Given the description of an element on the screen output the (x, y) to click on. 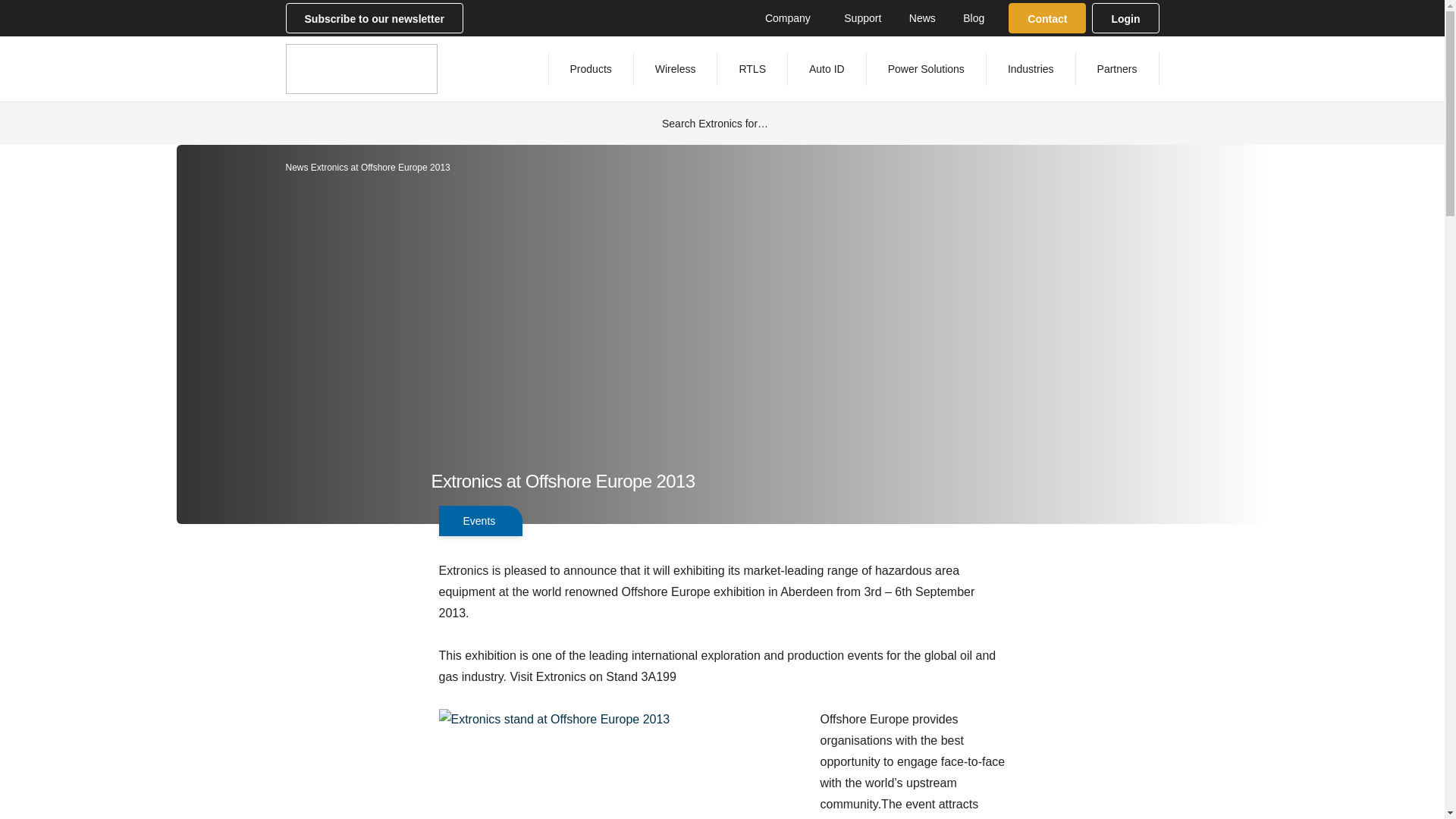
Power Solutions (925, 68)
Wireless (675, 68)
Auto ID (826, 68)
Blog (972, 17)
Login (1125, 18)
RTLS (752, 68)
News (921, 17)
Blog (972, 17)
News (296, 167)
Support (862, 17)
News (921, 17)
Subscribe to our newsletter (374, 18)
Products (590, 68)
Support (862, 17)
Contact (1047, 18)
